Given the description of an element on the screen output the (x, y) to click on. 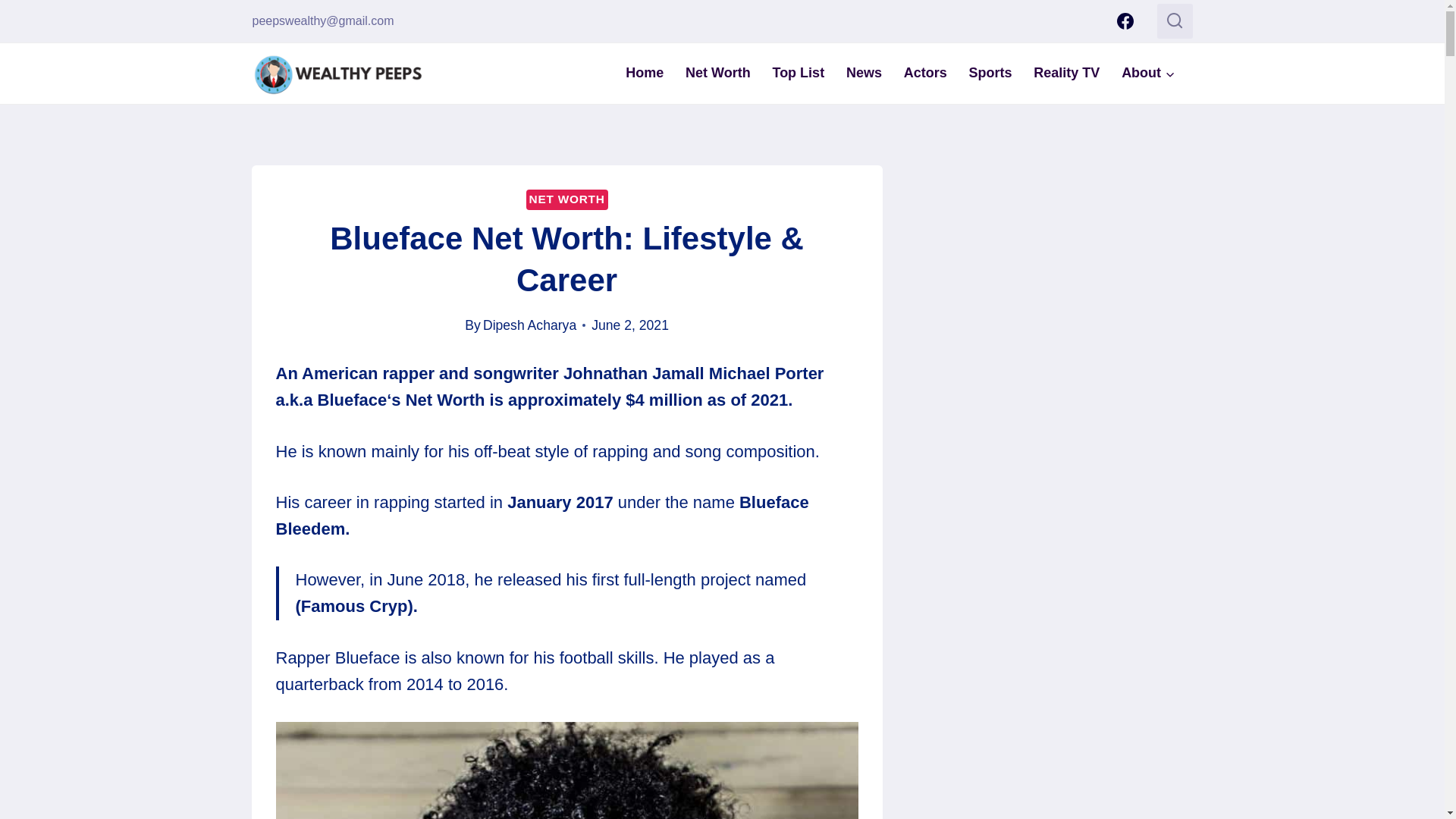
Actors (925, 72)
Home (644, 72)
About (1148, 72)
Top List (797, 72)
Sports (990, 72)
Net Worth (718, 72)
Reality TV (1066, 72)
NET WORTH (566, 199)
News (864, 72)
Dipesh Acharya (529, 324)
